Given the description of an element on the screen output the (x, y) to click on. 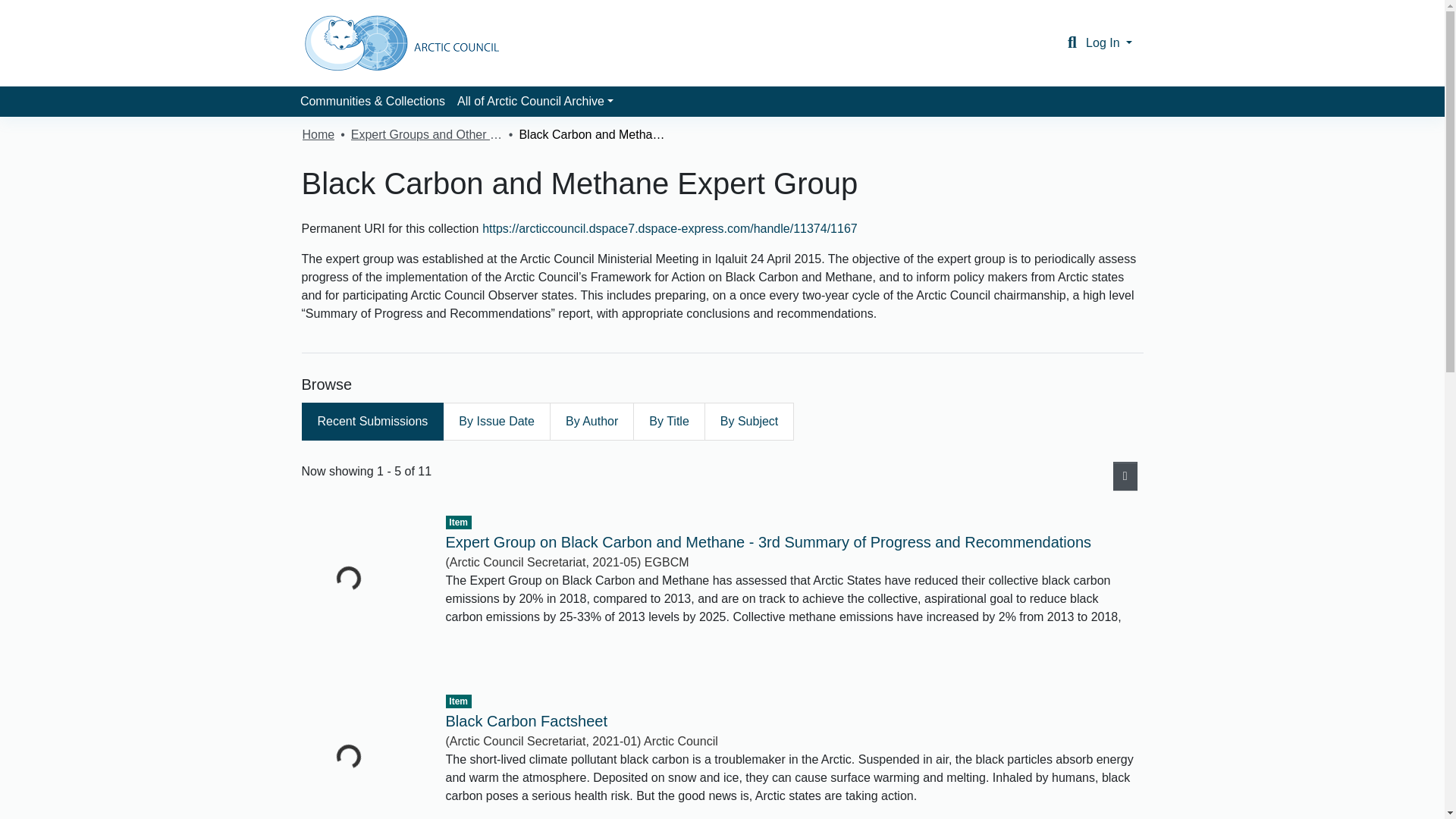
All of Arctic Council Archive (535, 101)
Log In (1108, 42)
Home (317, 135)
Expert Groups and Other Initiatives (426, 135)
Loading... (362, 589)
By Issue Date (496, 421)
Syndication feed (1125, 475)
By Author (591, 421)
Search (1072, 43)
Recent Submissions (372, 421)
Black Carbon Factsheet (526, 720)
By Subject (748, 421)
By Title (668, 421)
Loading... (362, 755)
